Given the description of an element on the screen output the (x, y) to click on. 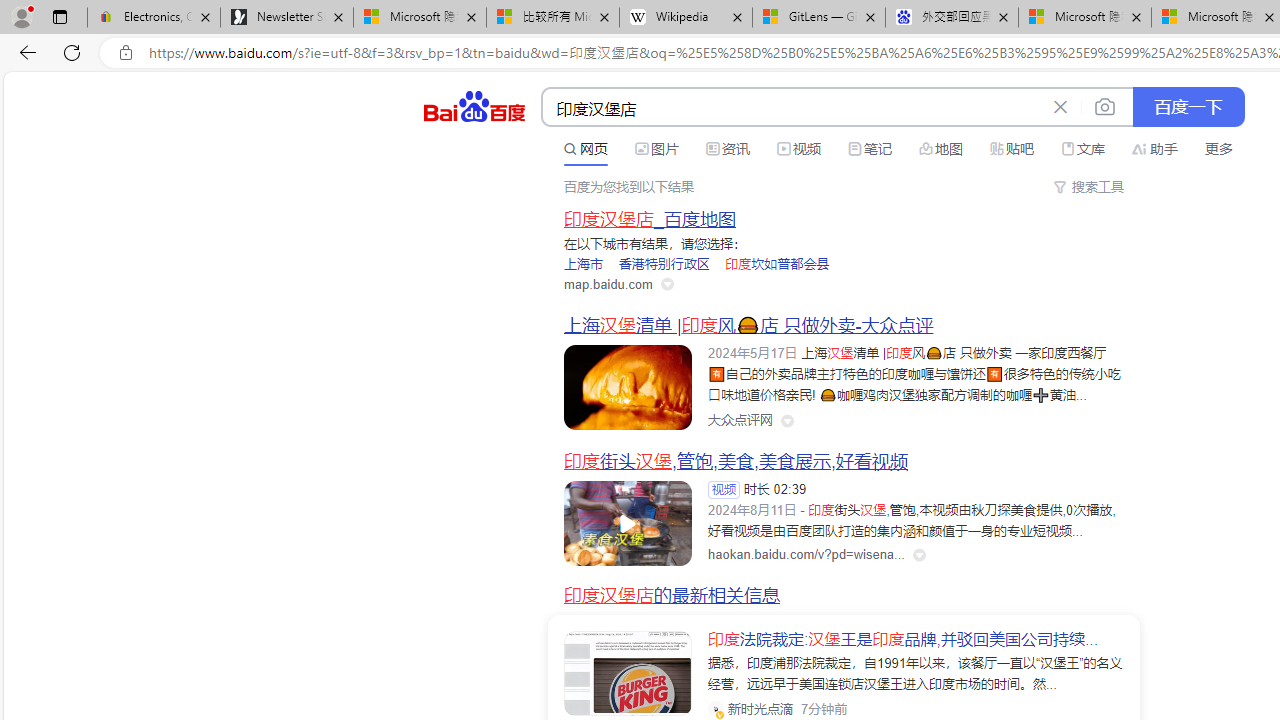
Class: c-img c-img-radius-large (628, 673)
